Given the description of an element on the screen output the (x, y) to click on. 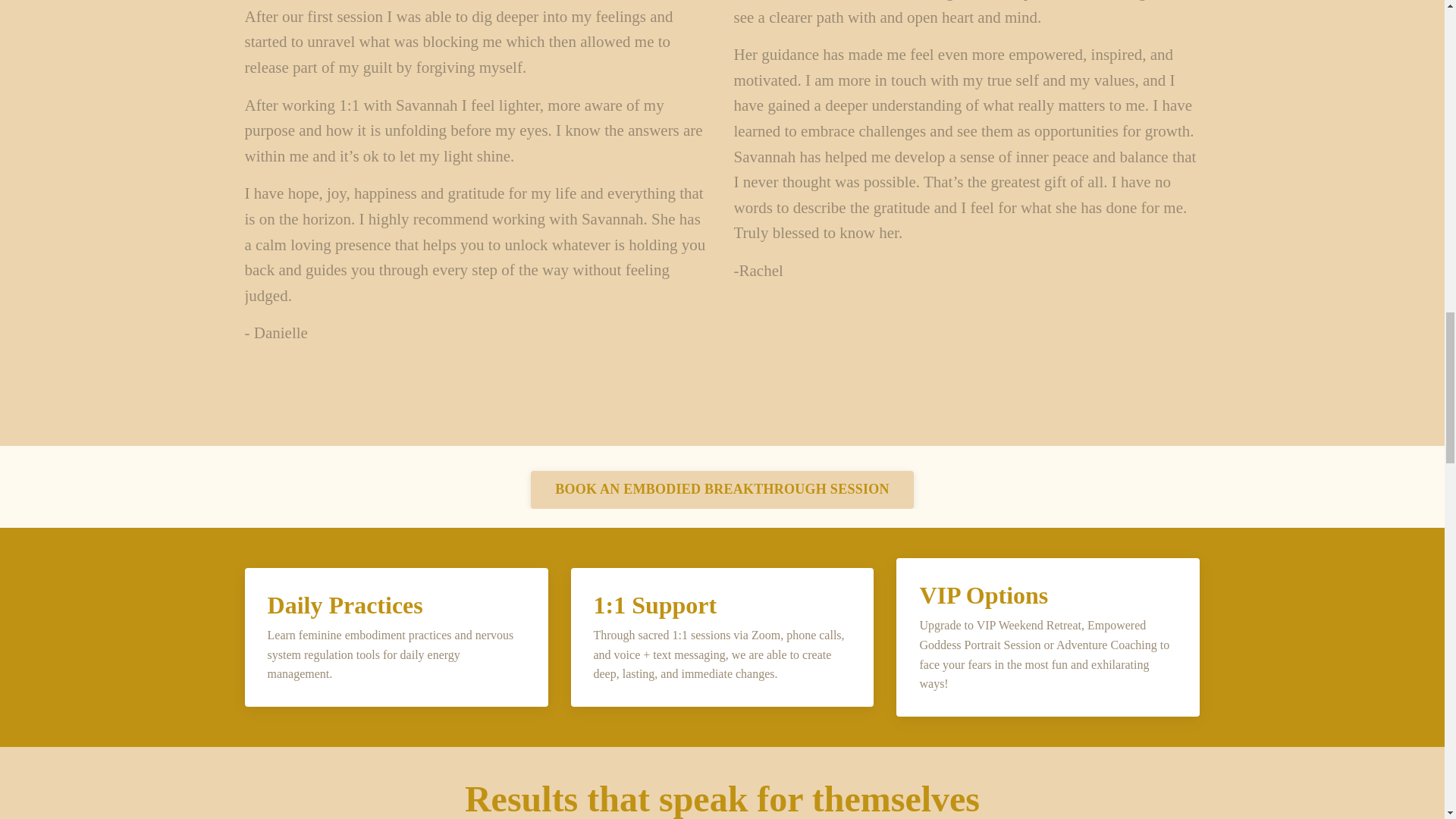
BOOK AN EMBODIED BREAKTHROUGH SESSION (721, 489)
